Given the description of an element on the screen output the (x, y) to click on. 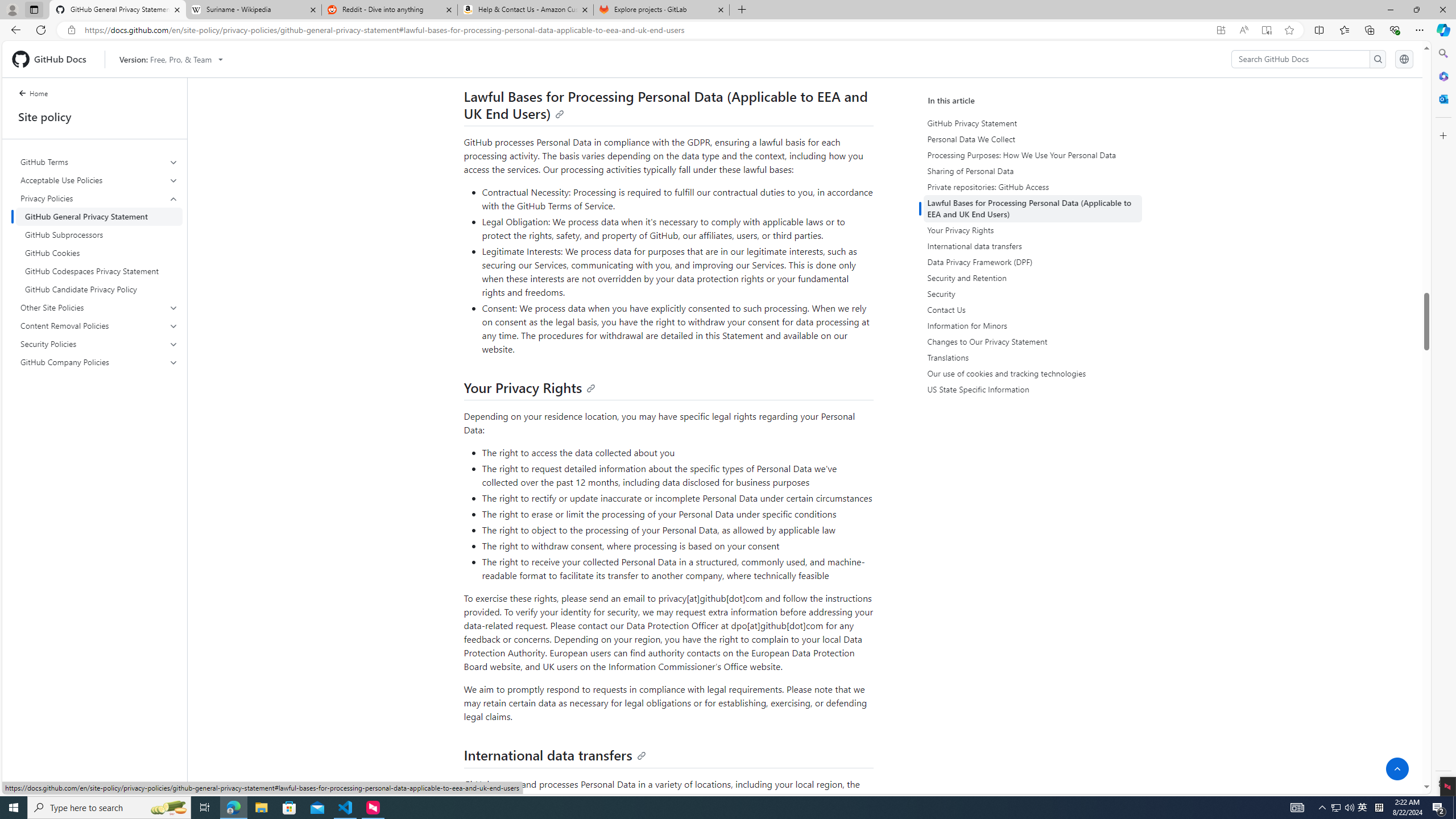
Other Site Policies (99, 307)
Your Privacy Rights (529, 387)
Site policy (94, 116)
Personal Data We Collect (1034, 139)
US State Specific Information (1034, 389)
Changes to Our Privacy Statement (1034, 341)
GitHub Privacy Statement (1032, 123)
Security (1032, 293)
Security Policies (99, 343)
International data transfers (554, 754)
App available. Install GitHub Docs (1220, 29)
Private repositories: GitHub Access (1032, 186)
